Given the description of an element on the screen output the (x, y) to click on. 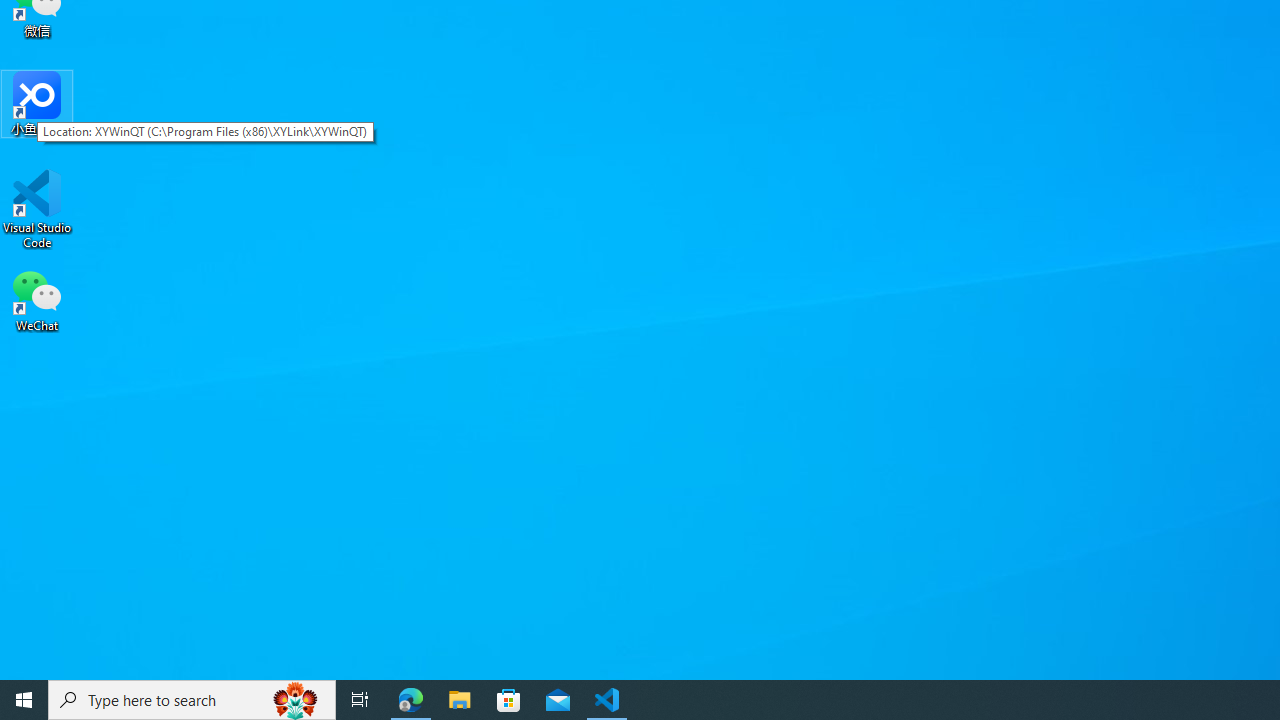
Microsoft Store (509, 699)
Search highlights icon opens search home window (295, 699)
File Explorer (460, 699)
WeChat (37, 299)
Visual Studio Code (37, 209)
Task View (359, 699)
Type here to search (191, 699)
Visual Studio Code - 1 running window (607, 699)
Start (24, 699)
Microsoft Edge - 1 running window (411, 699)
